Given the description of an element on the screen output the (x, y) to click on. 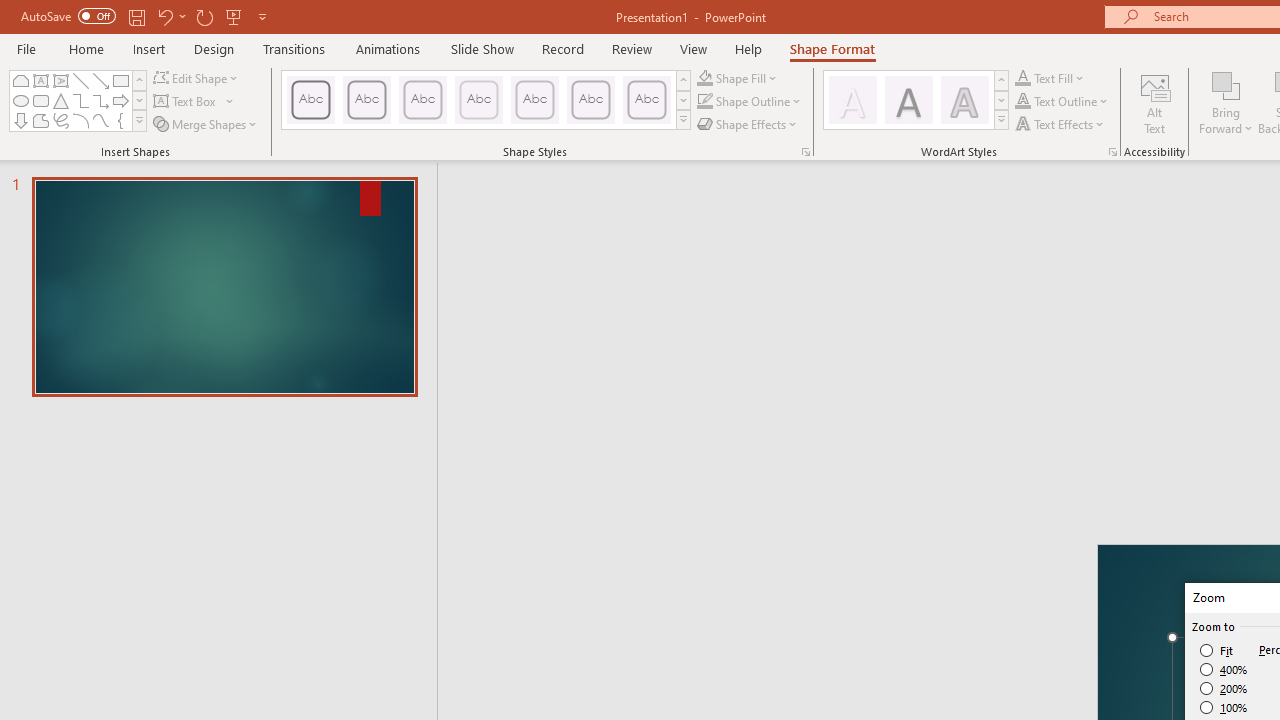
Bring Forward (1225, 84)
100% (1224, 707)
Colored Outline - Blue-Gray, Accent 5 (591, 100)
Shape Outline Blue, Accent 1 (704, 101)
Fill: White, Text color 1; Shadow (852, 100)
Text Outline (1062, 101)
Text Outline RGB(0, 0, 0) (1023, 101)
